Given the description of an element on the screen output the (x, y) to click on. 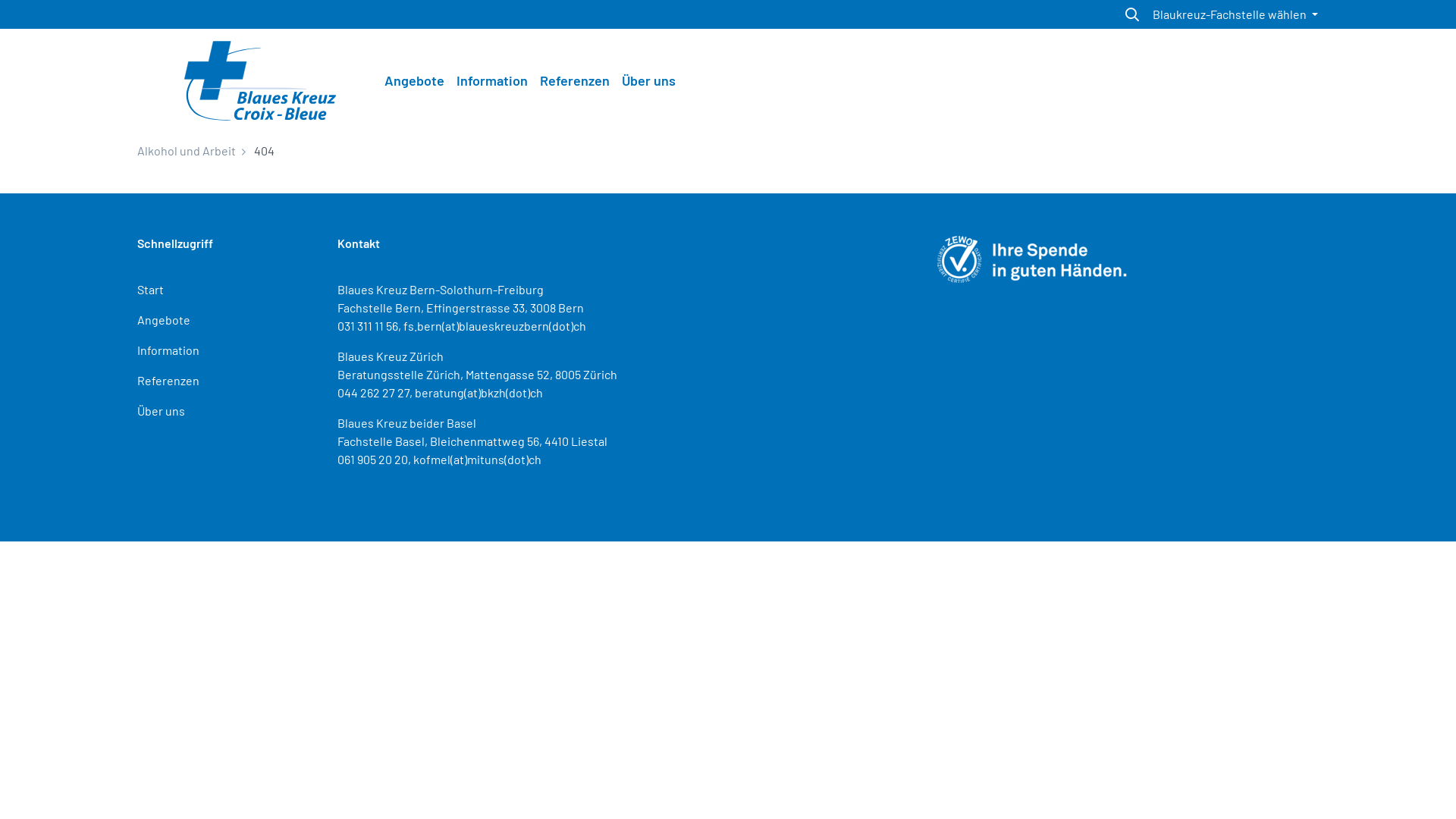
031 311 11 56 Element type: text (367, 325)
044 262 27 27 Element type: text (373, 392)
beratung(at)bkzh(dot)ch Element type: text (478, 392)
Information Element type: text (491, 80)
061 905 20 20 Element type: text (372, 458)
Webseite der Stiftung Zewo Element type: hover (1031, 257)
Start Element type: text (150, 289)
Referenzen Element type: text (168, 380)
Referenzen Element type: text (574, 80)
kofmel(at)mituns(dot)ch Element type: text (477, 458)
fs.bern(at)blaueskreuzbern(dot)ch Element type: text (494, 325)
Alkohol und Arbeit Element type: text (186, 150)
Angebote Element type: text (163, 319)
Information Element type: text (168, 349)
Blaues Kreuz beider Basel Element type: text (406, 422)
Blaues Kreuz Bern-Solothurn-Freiburg Element type: text (440, 289)
Angebote Element type: text (414, 80)
